Given the description of an element on the screen output the (x, y) to click on. 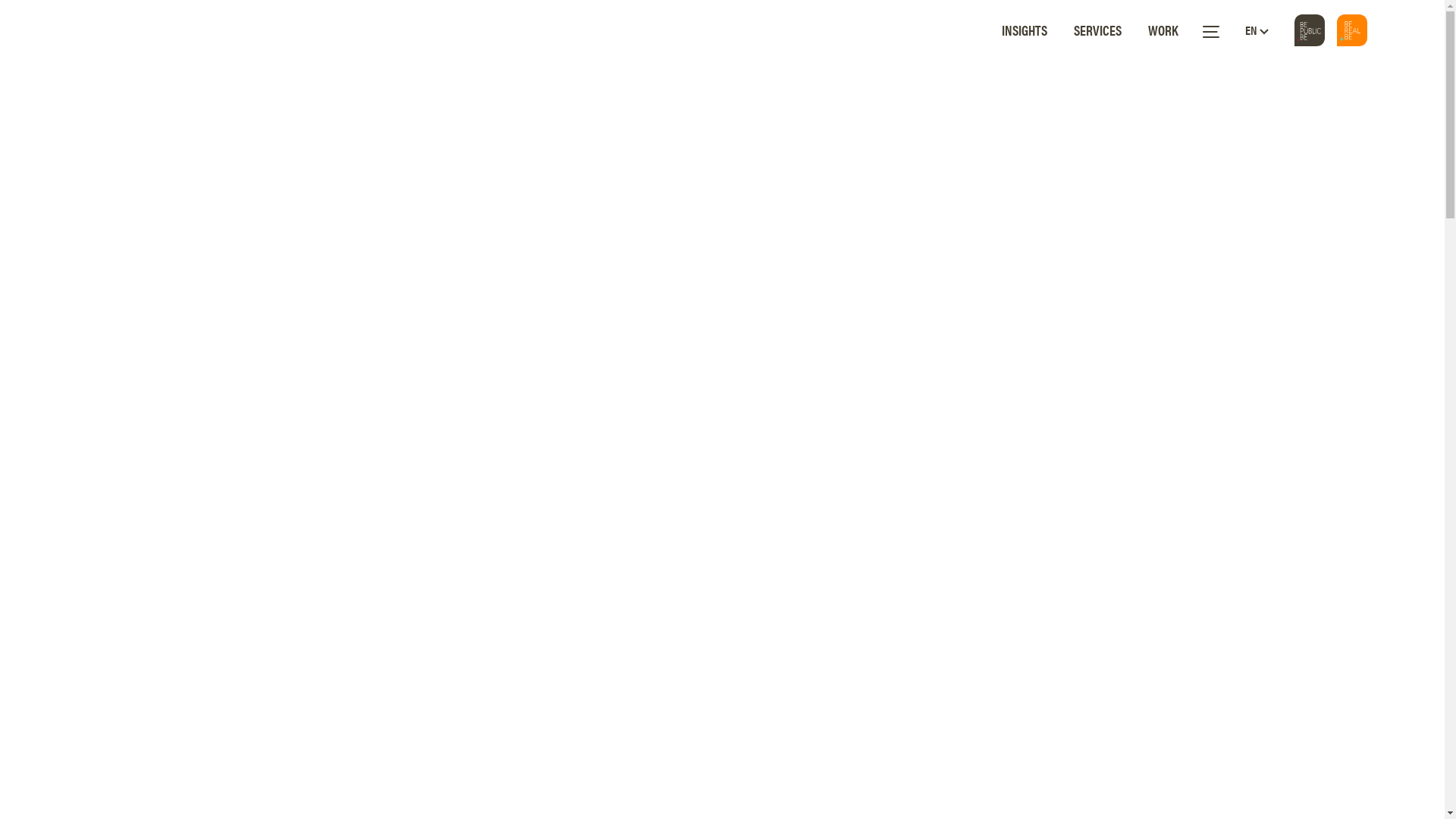
INSIGHTS Element type: text (1023, 29)
SERVICES Element type: text (1097, 29)
WORK Element type: text (1163, 29)
EN Element type: text (1256, 29)
